Given the description of an element on the screen output the (x, y) to click on. 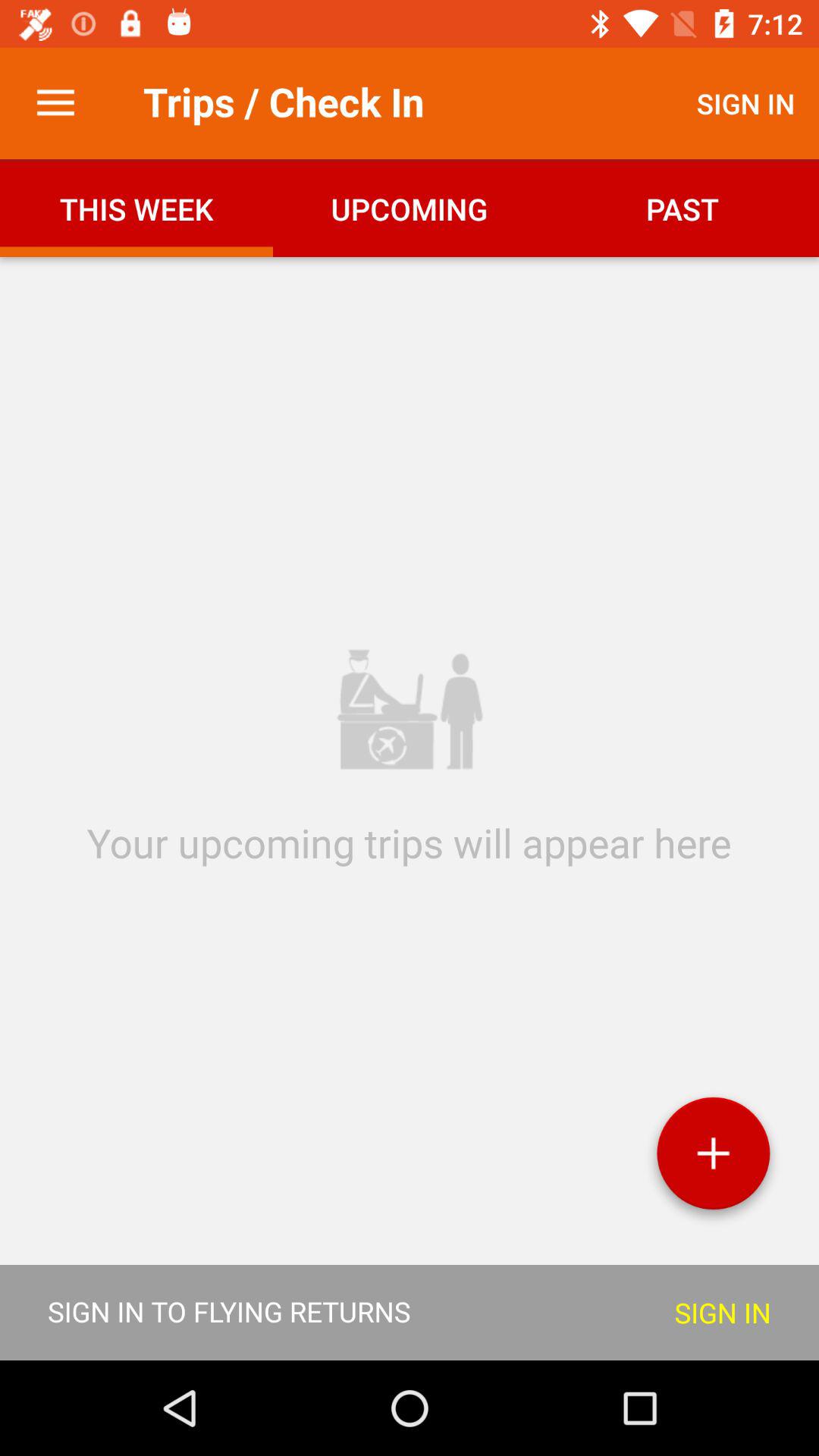
turn off the icon next to trips / check in item (55, 103)
